Given the description of an element on the screen output the (x, y) to click on. 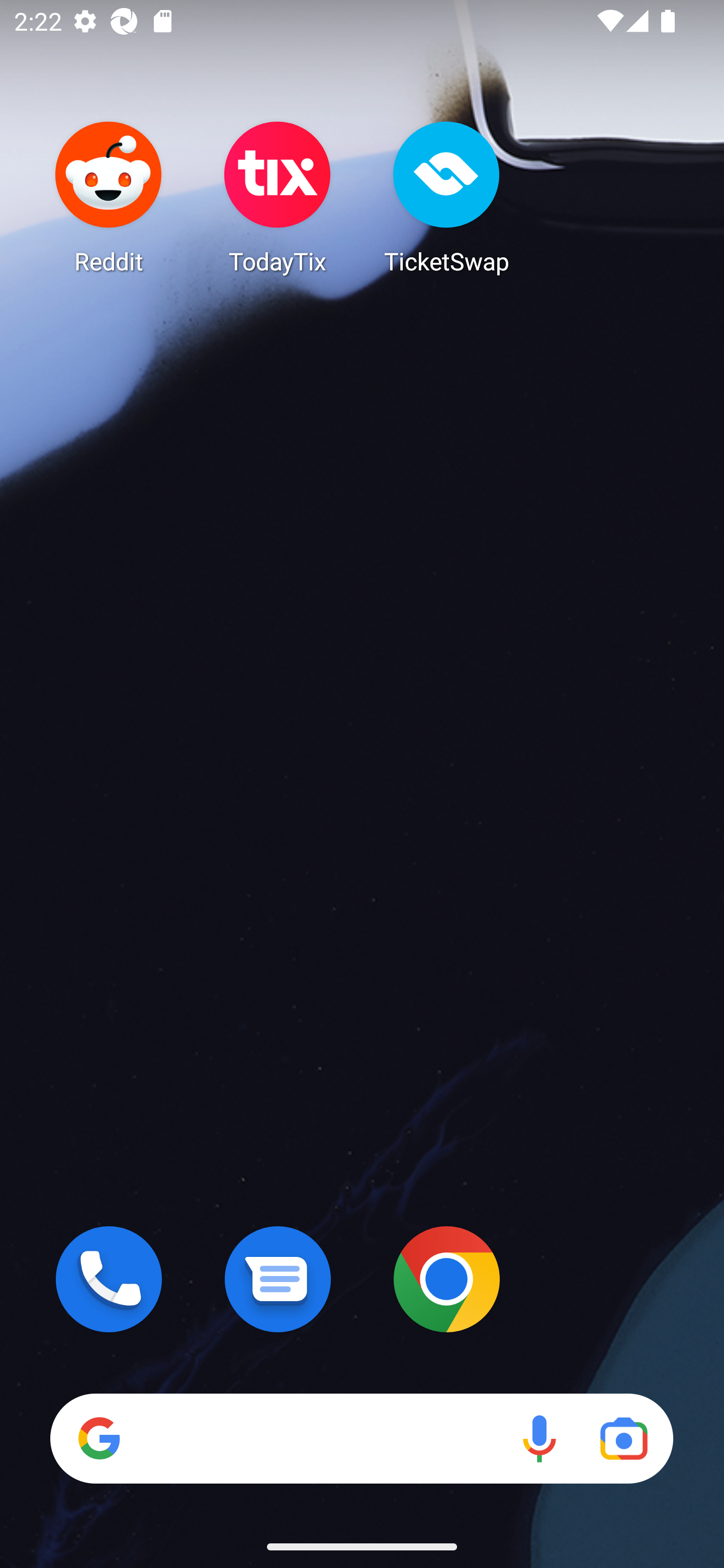
Reddit (108, 196)
TodayTix (277, 196)
TicketSwap (445, 196)
Phone (108, 1279)
Messages (277, 1279)
Chrome (446, 1279)
Voice search (539, 1438)
Google Lens (623, 1438)
